Given the description of an element on the screen output the (x, y) to click on. 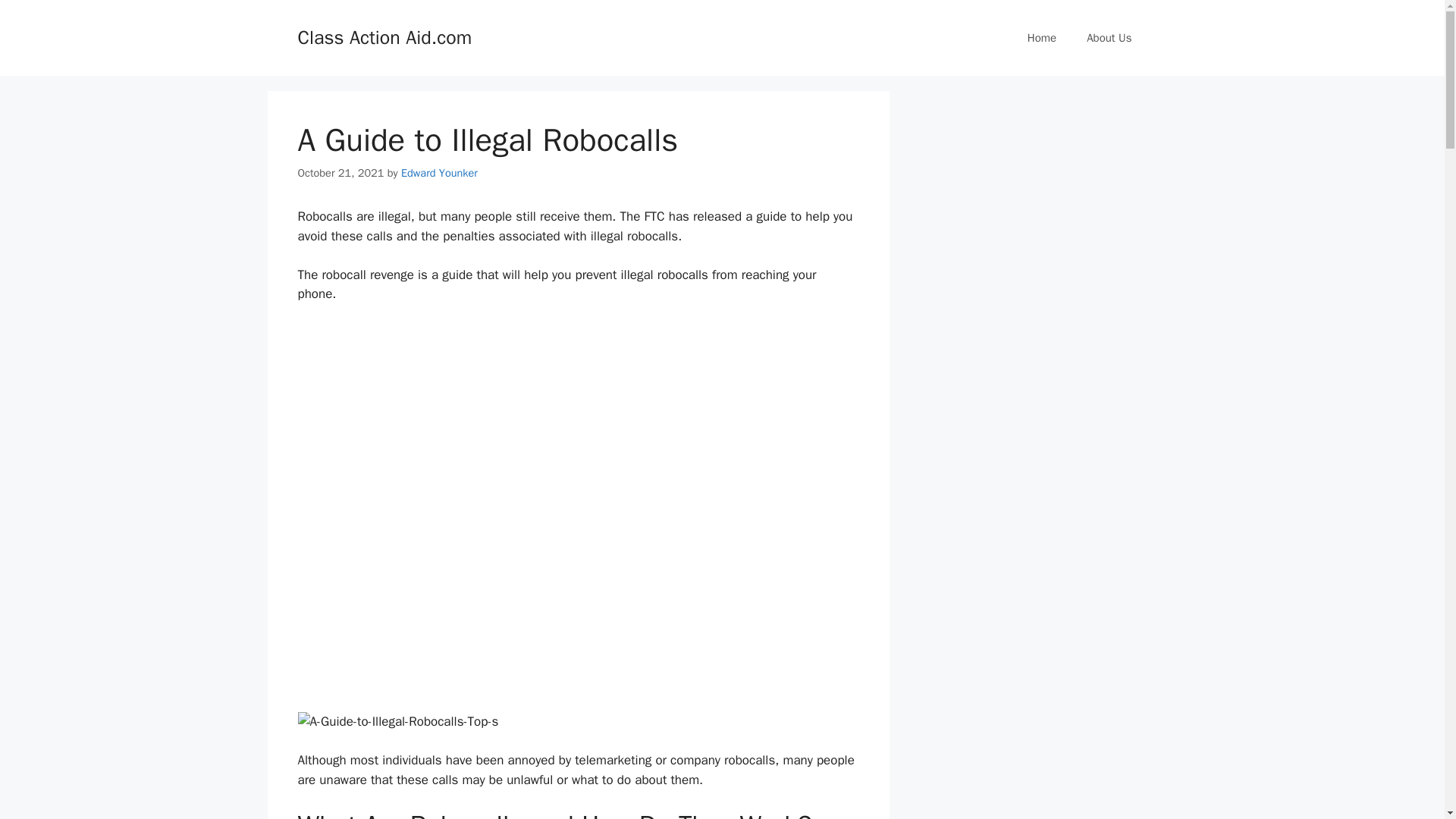
Edward Younker (439, 172)
Home (1041, 37)
Homepage (1041, 37)
About Us (1109, 37)
View all posts by Edward Younker (439, 172)
Class Action Aid.com (384, 37)
